Given the description of an element on the screen output the (x, y) to click on. 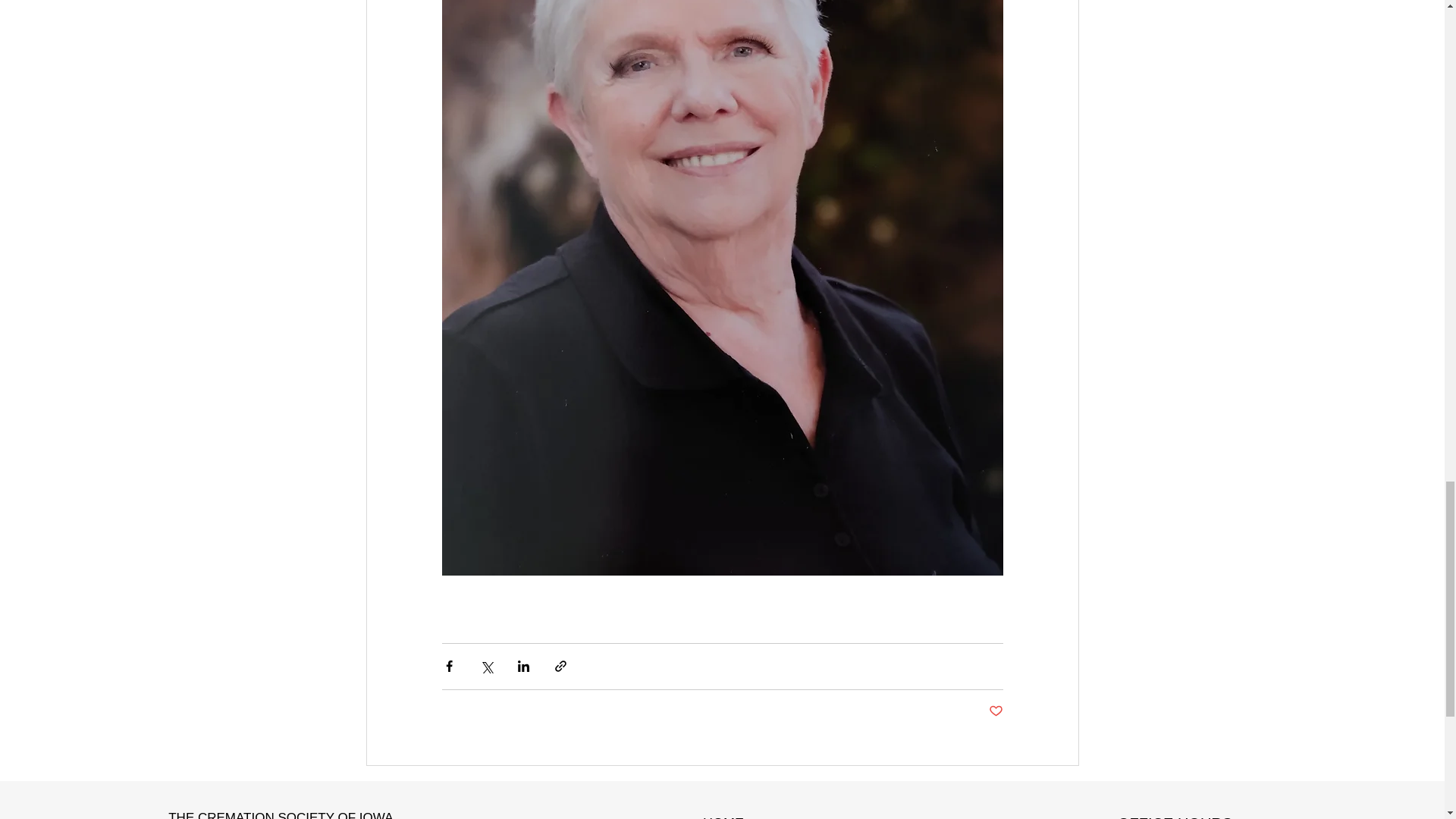
HOME (723, 817)
Post not marked as liked (995, 711)
